Given the description of an element on the screen output the (x, y) to click on. 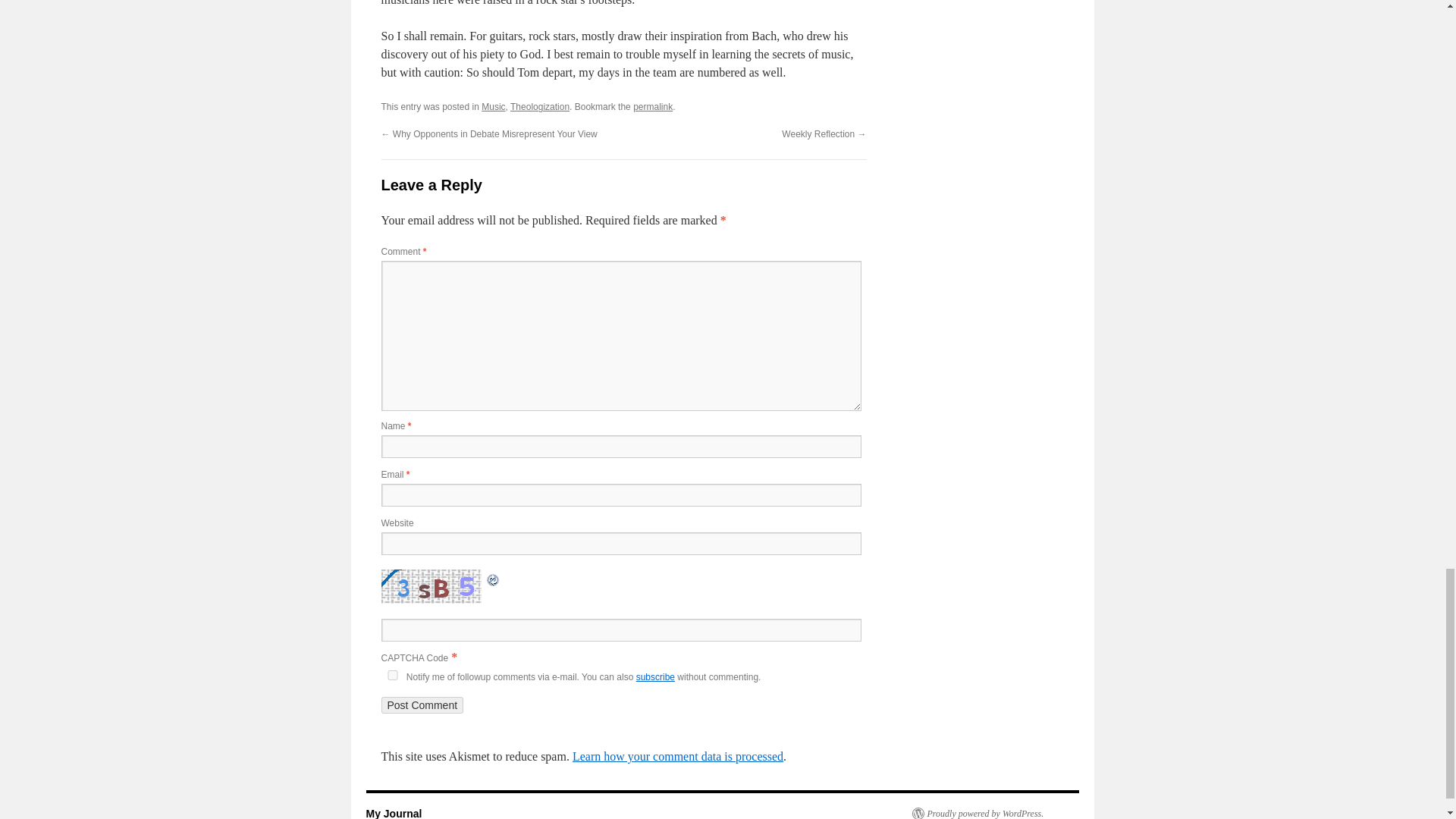
permalink (652, 106)
Refresh (493, 577)
subscribe (655, 676)
Learn how your comment data is processed (677, 756)
Music (493, 106)
Permalink to On Church Worship - Music (652, 106)
yes (391, 675)
CAPTCHA (432, 586)
Post Comment (421, 704)
Theologization (540, 106)
